Given the description of an element on the screen output the (x, y) to click on. 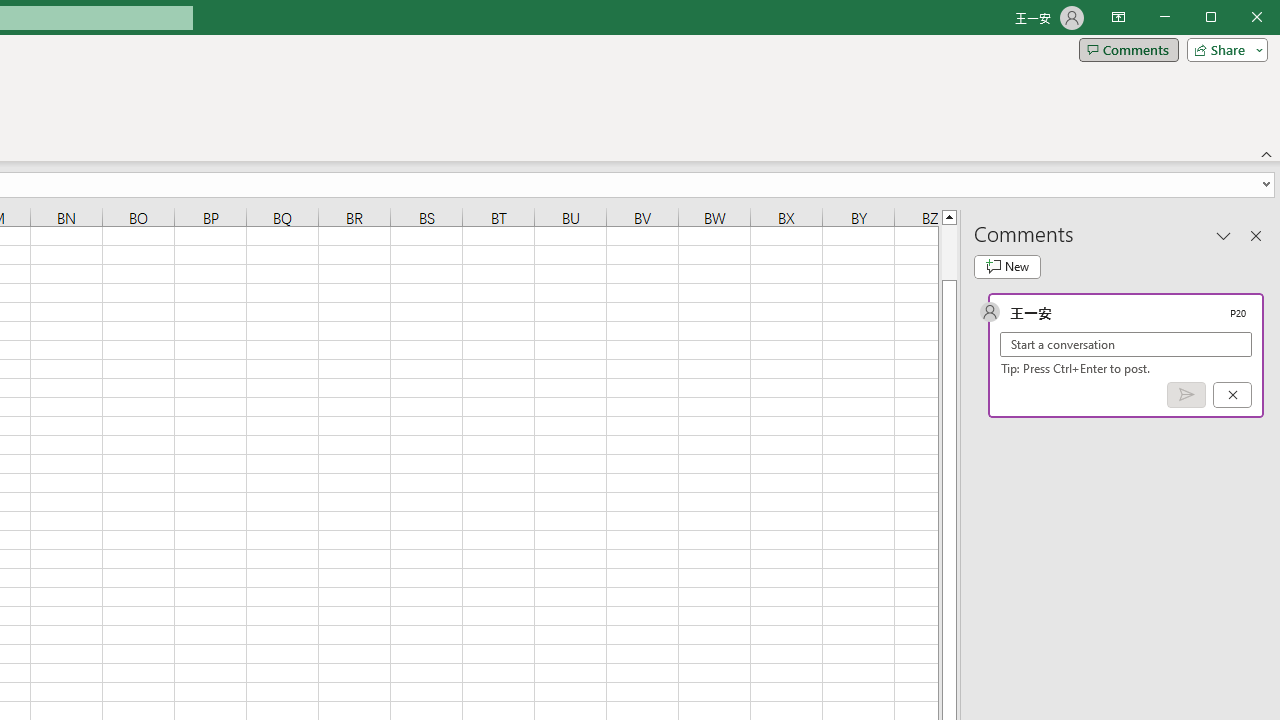
Post comment (Ctrl + Enter) (1186, 395)
Maximize (1239, 18)
Cancel (1232, 395)
Start a conversation (1126, 344)
Page up (948, 252)
